Given the description of an element on the screen output the (x, y) to click on. 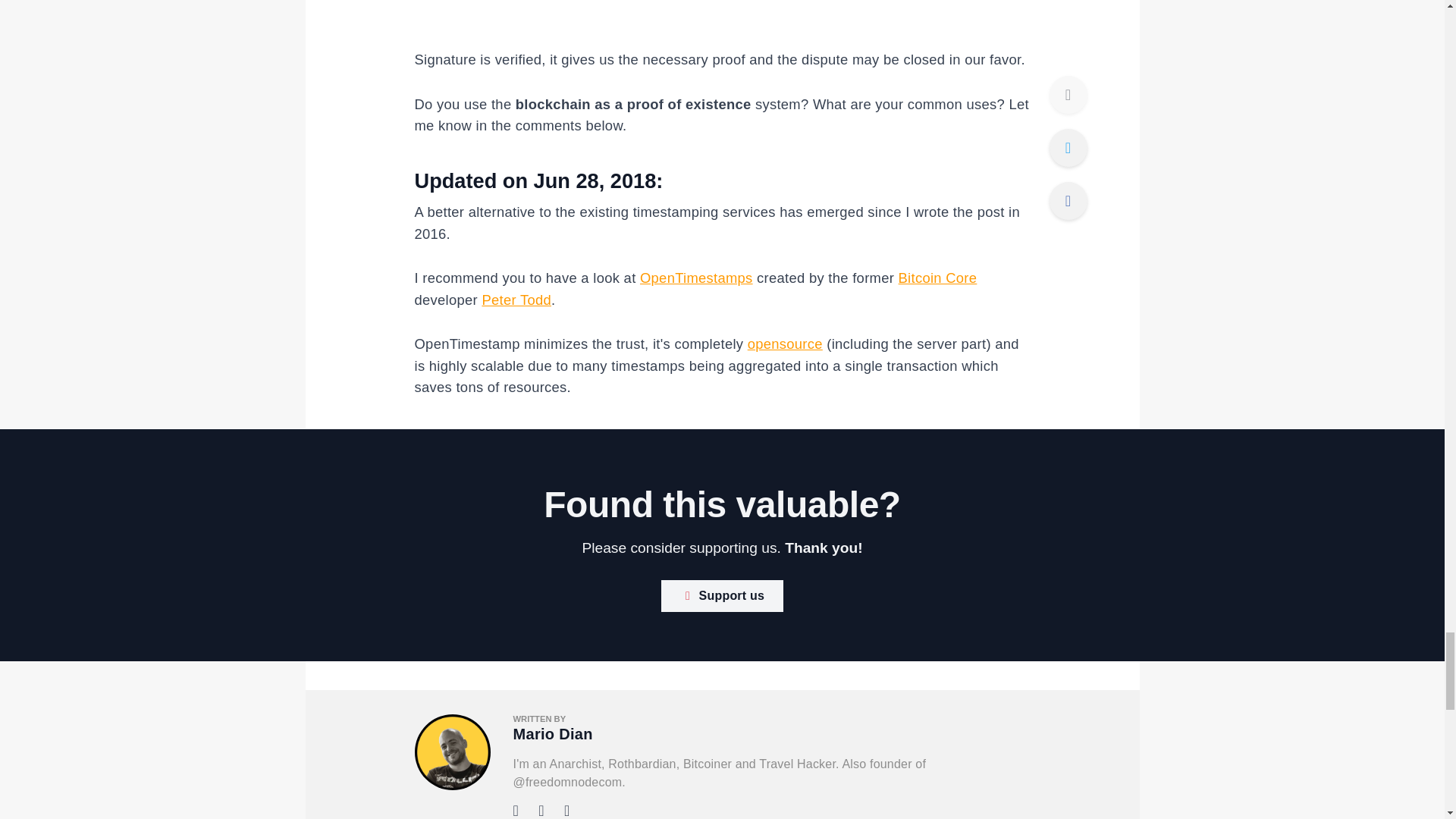
OpenTimestamps (696, 277)
opensource (785, 343)
Bitcoin Core (937, 277)
Mario Dian (552, 733)
Peter Todd (516, 299)
Support us (722, 595)
